Given the description of an element on the screen output the (x, y) to click on. 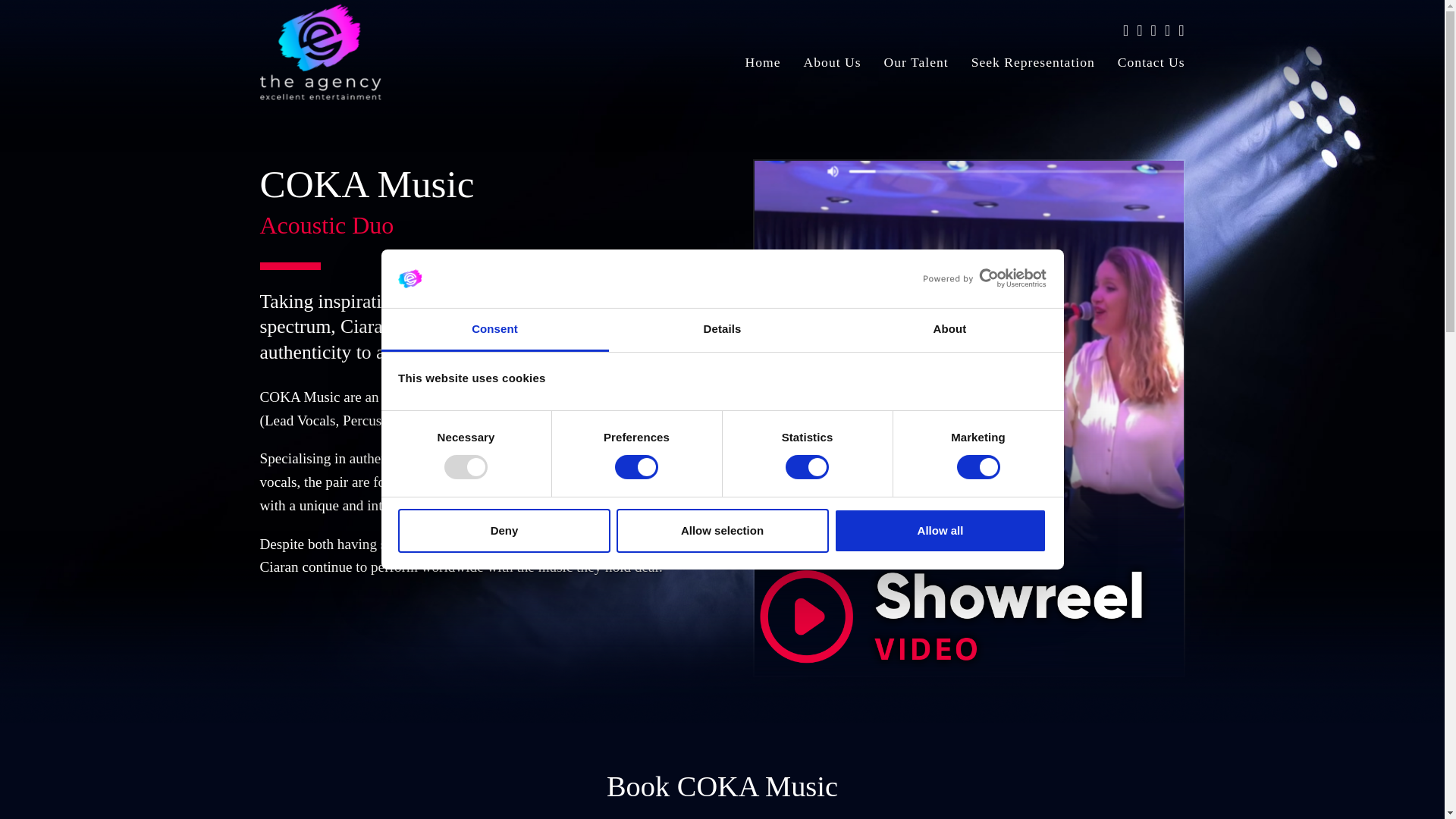
Our Talent (915, 65)
Details (721, 330)
Allow all (940, 530)
About (948, 330)
Consent (494, 330)
Allow selection (721, 530)
Home (762, 65)
Seek Representation (1032, 65)
Deny (503, 530)
Contact Us (1145, 65)
About Us (832, 65)
